Given the description of an element on the screen output the (x, y) to click on. 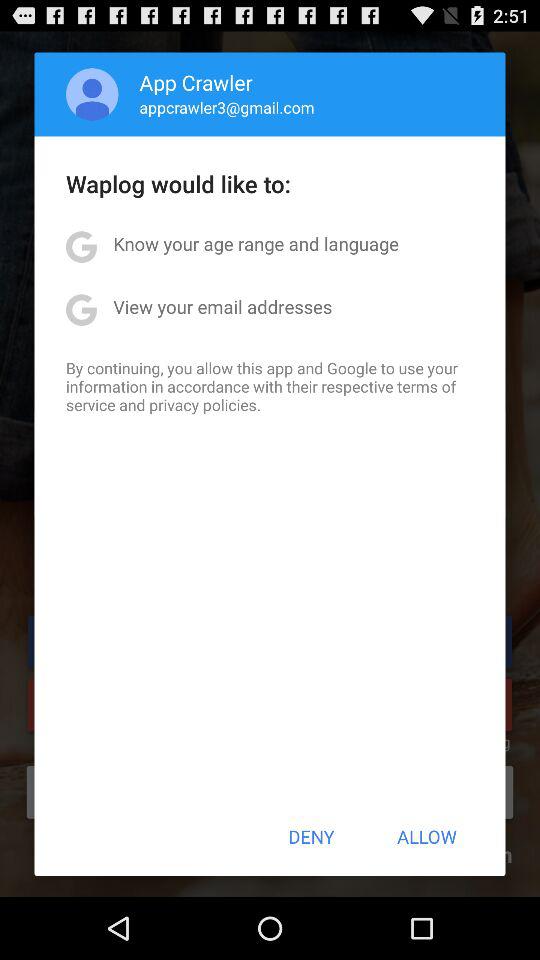
turn on the deny at the bottom (311, 836)
